Given the description of an element on the screen output the (x, y) to click on. 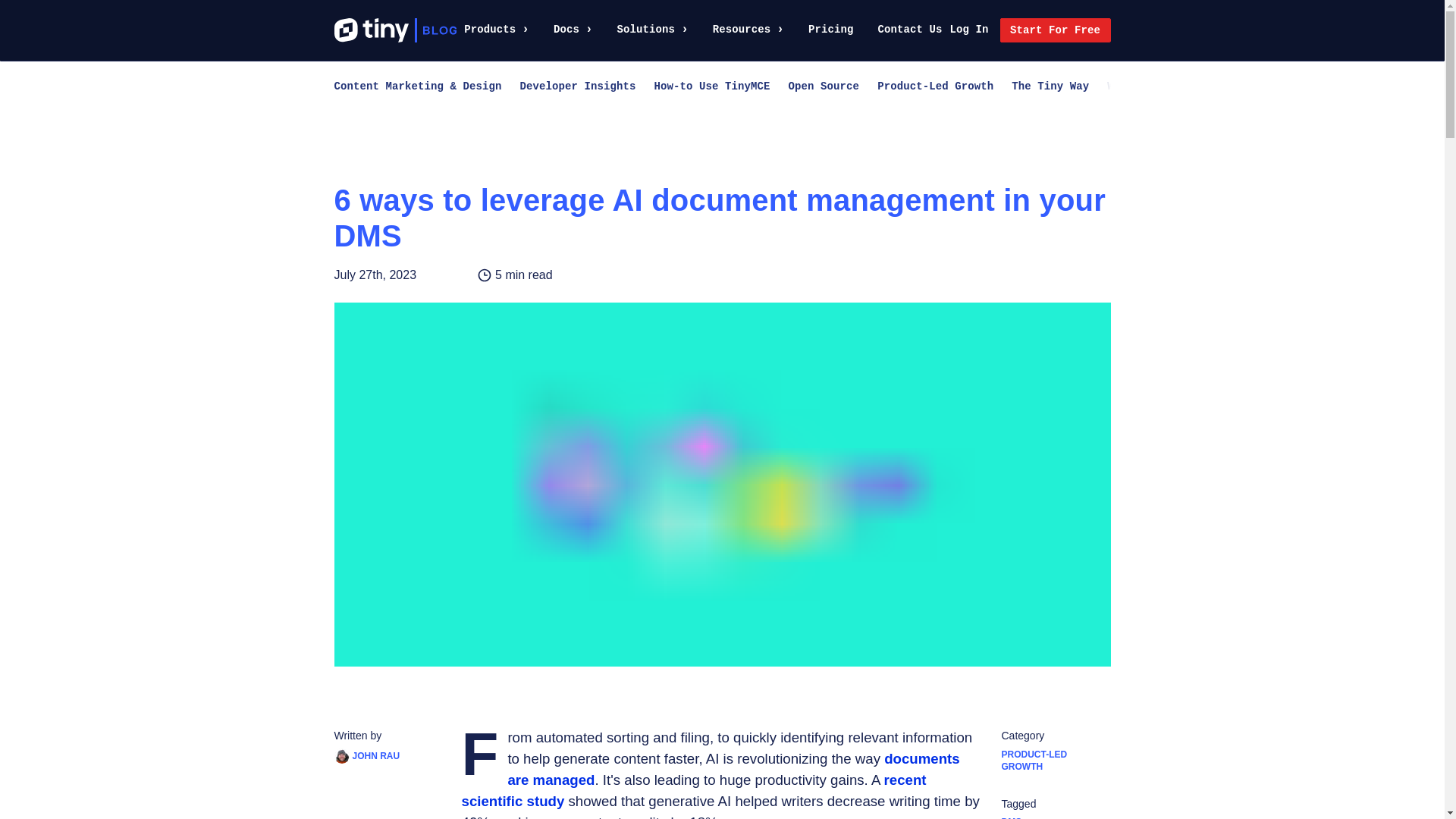
Products (496, 30)
Start For Free (1054, 30)
Tiny Logo (370, 30)
Tiny Logo (370, 30)
Docs (572, 30)
Solutions (652, 30)
